Given the description of an element on the screen output the (x, y) to click on. 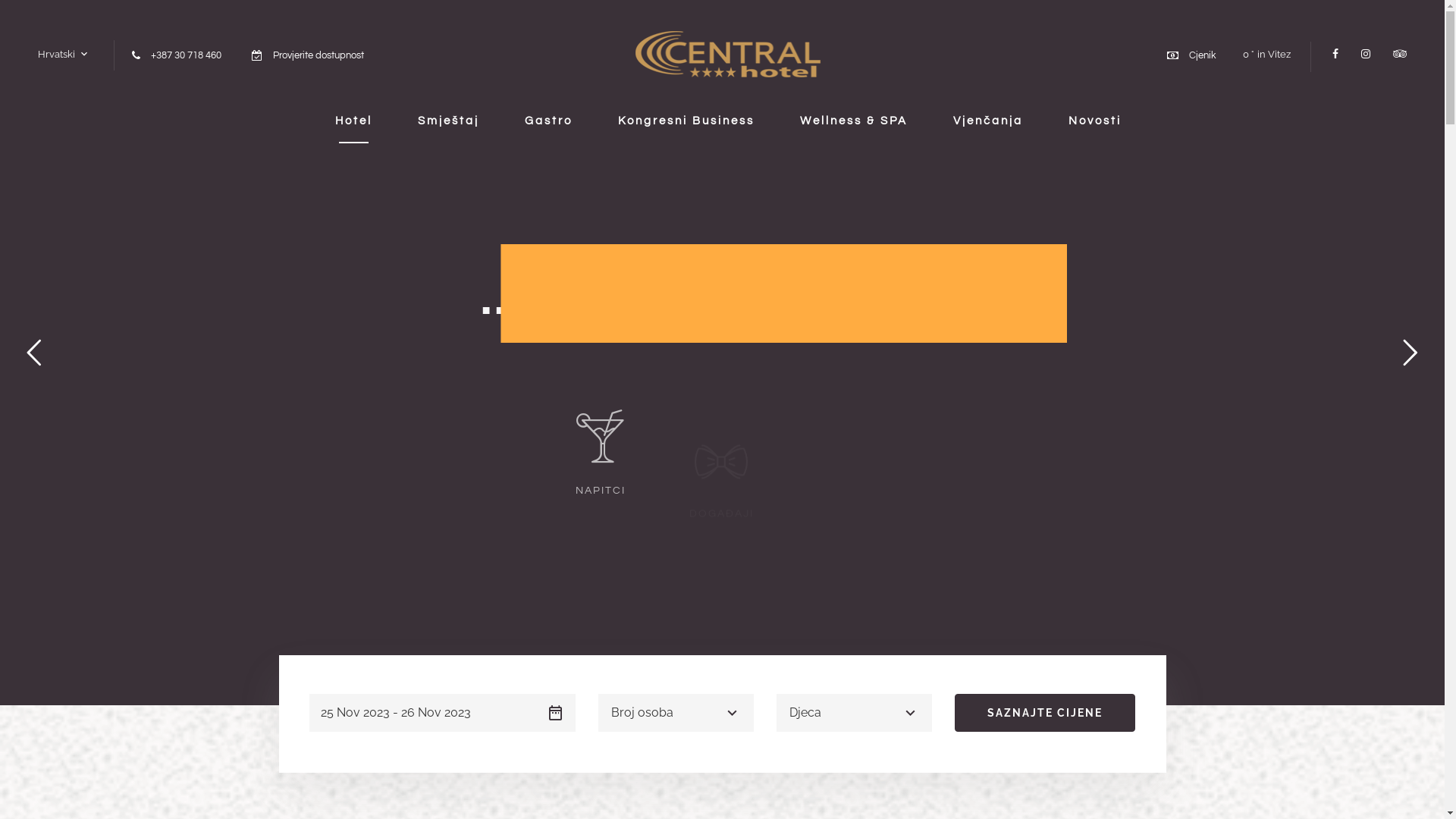
Wellness & SPA Element type: text (852, 120)
Skip to content Element type: text (0, 0)
Hotel Element type: text (353, 120)
Novosti Element type: text (1093, 120)
Provjerite dostupnost Element type: text (318, 55)
Social item Element type: hover (1335, 53)
Social item Element type: hover (1365, 53)
Gastro Element type: text (548, 120)
SAZNAJTE CIJENE Element type: text (1043, 712)
Cjenik Element type: text (1202, 55)
Kongresni Business Element type: text (685, 120)
Social item Element type: hover (1393, 53)
